Given the description of an element on the screen output the (x, y) to click on. 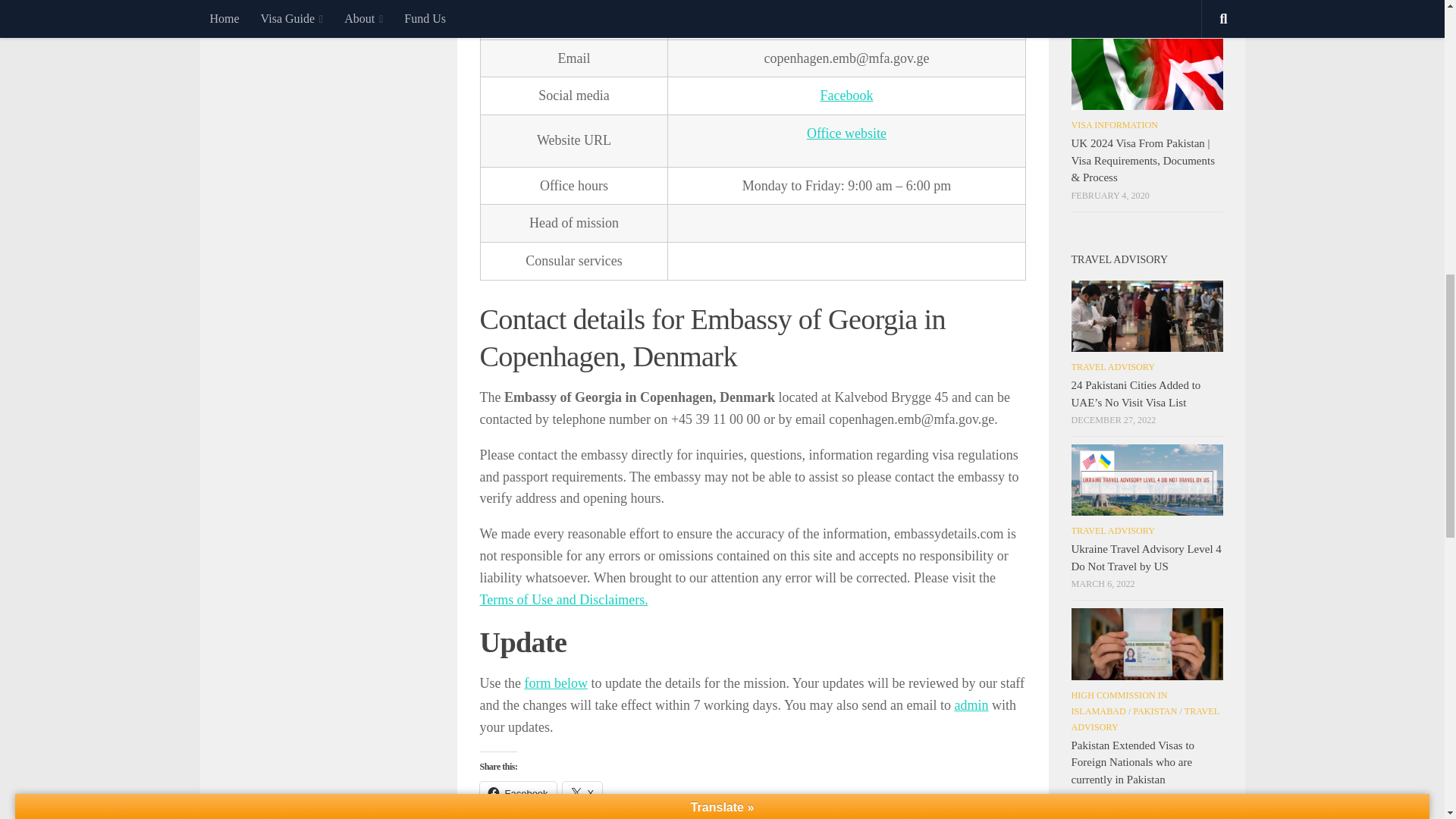
Click to share on Facebook (517, 793)
Office website (846, 133)
form below (555, 683)
Terms of Use and Disclaimers. (563, 599)
Facebook (845, 95)
Facebook (517, 793)
Click to share on X (582, 793)
Visit Embassy of Georgia in Copenhagen, Denmark website (846, 133)
X (582, 793)
admin (971, 704)
